Given the description of an element on the screen output the (x, y) to click on. 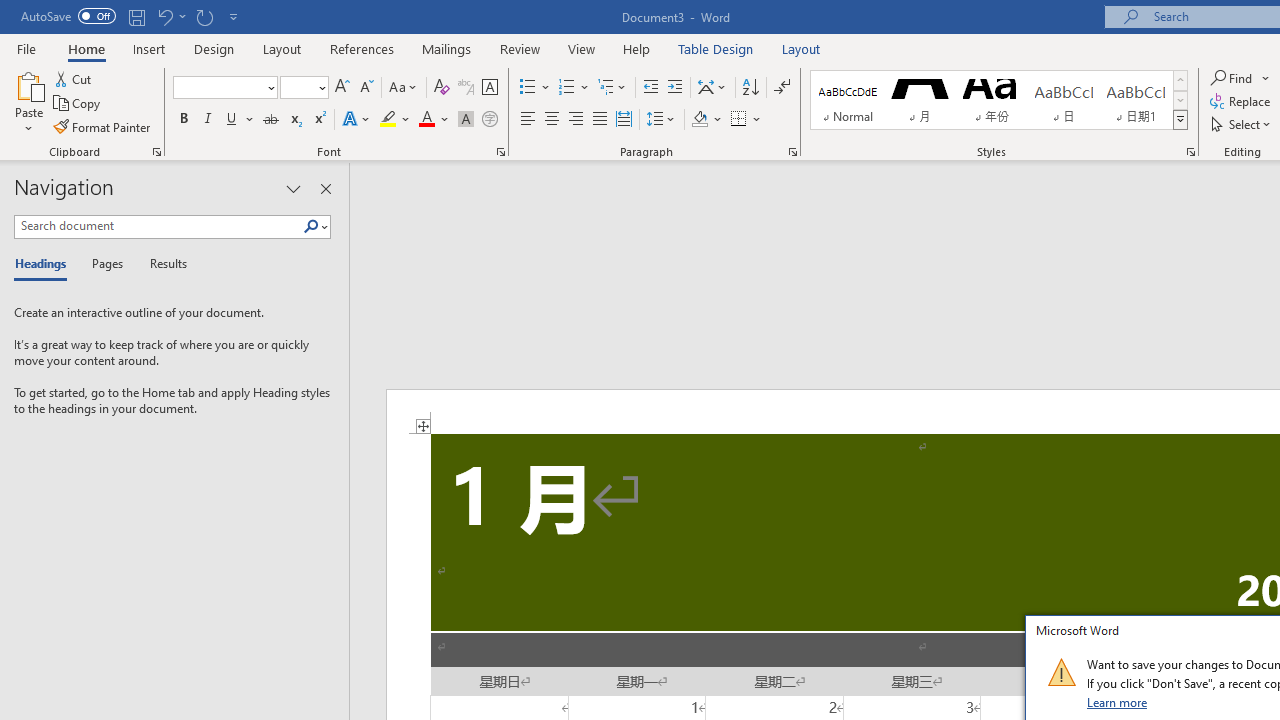
Align Right (575, 119)
Repeat Distribute Para (204, 15)
Clear Formatting (442, 87)
Align Left (527, 119)
